Given the description of an element on the screen output the (x, y) to click on. 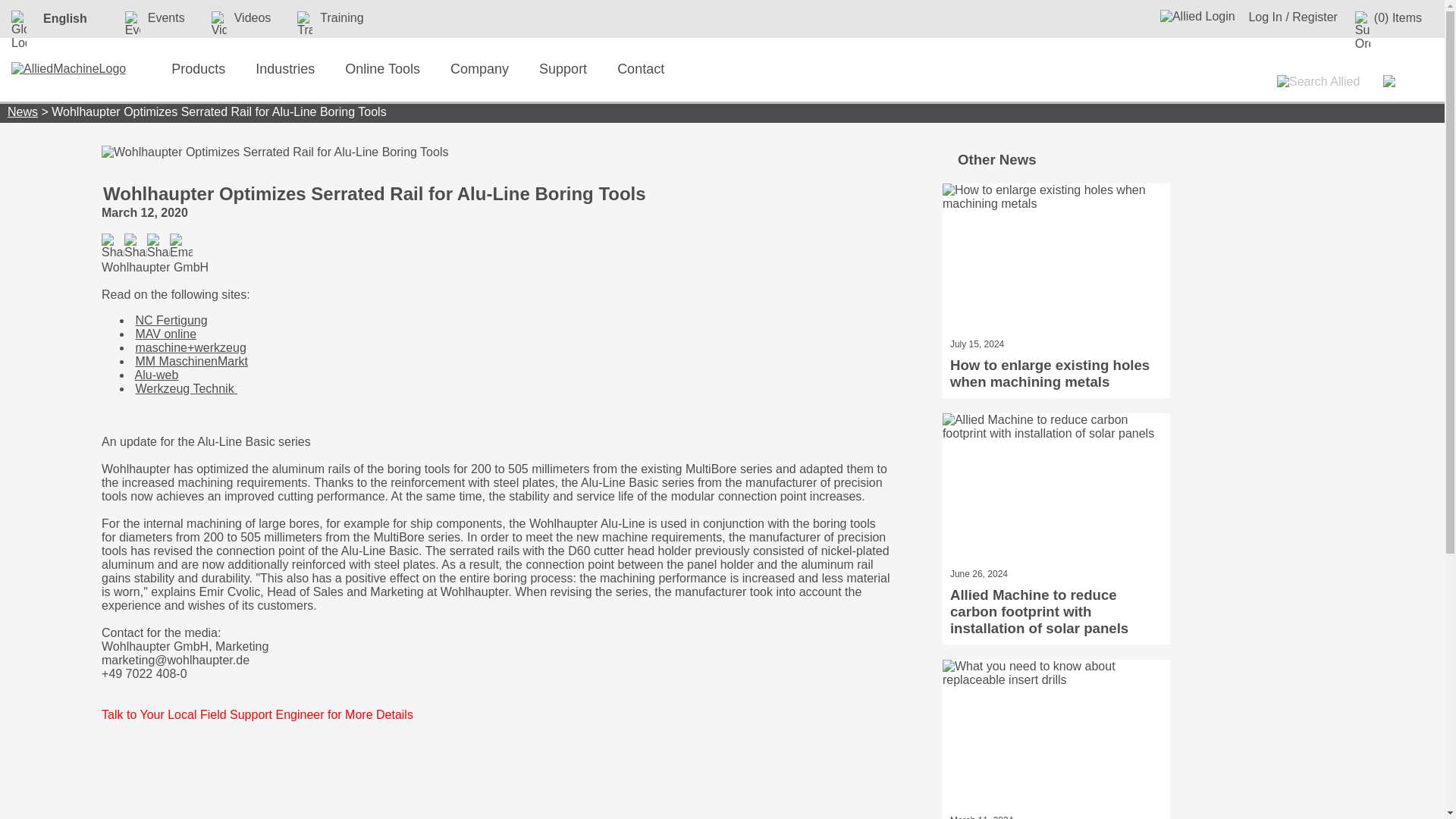
Search Allied (1317, 81)
What you need to know about replaceable insert drills (1056, 735)
How to enlarge existing holes when machining metals (1056, 258)
Share on Twitter (135, 244)
Share on Facebook (112, 244)
Email (181, 244)
Share on LinkedIn (158, 244)
